Given the description of an element on the screen output the (x, y) to click on. 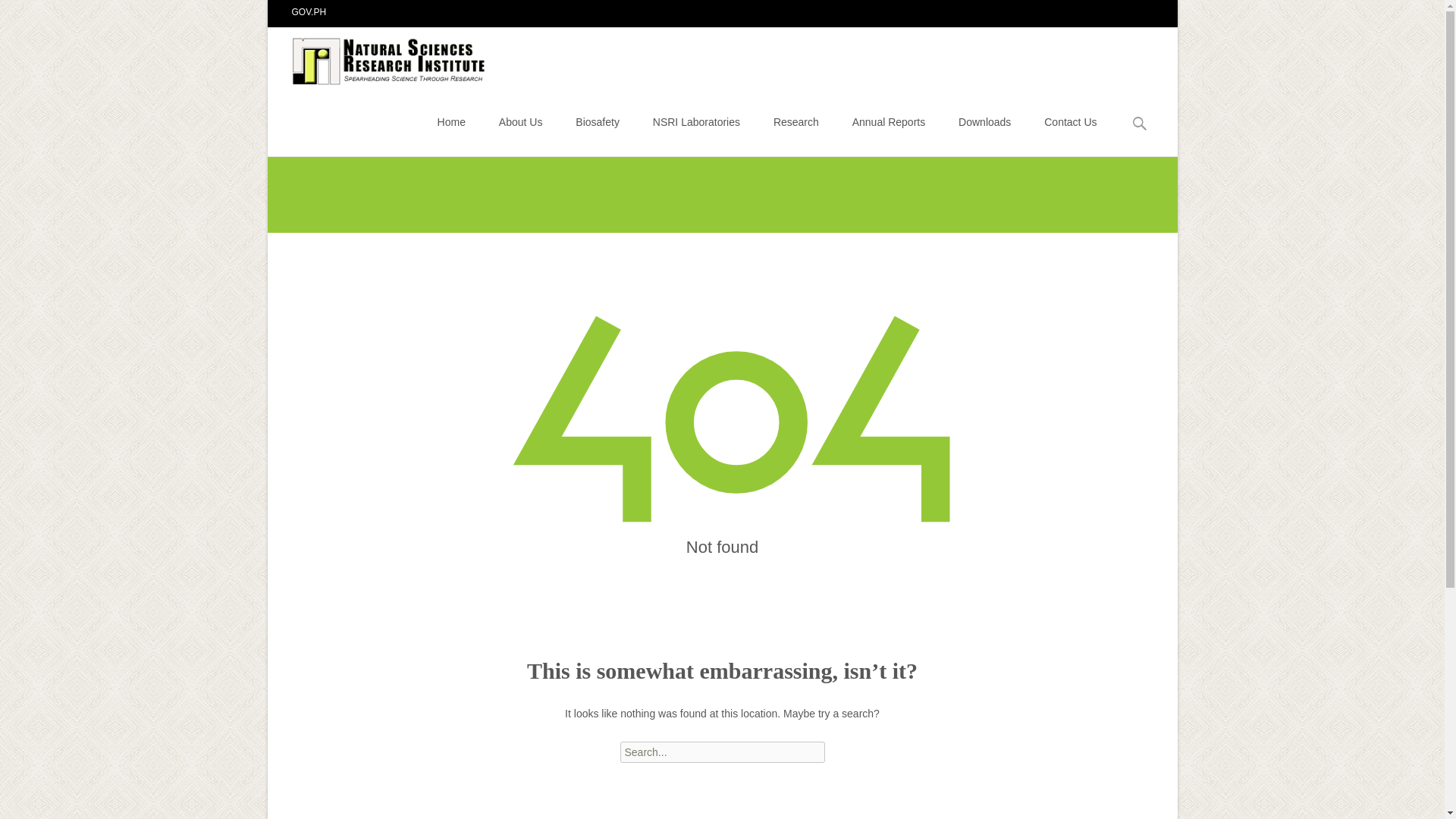
Search (34, 14)
GOV.PH (308, 11)
Annual Reports (888, 121)
NSRI Laboratories (695, 121)
Search for: (722, 752)
Search (18, 14)
Search for: (1139, 123)
Natural Sciences Research Institute (378, 57)
